Given the description of an element on the screen output the (x, y) to click on. 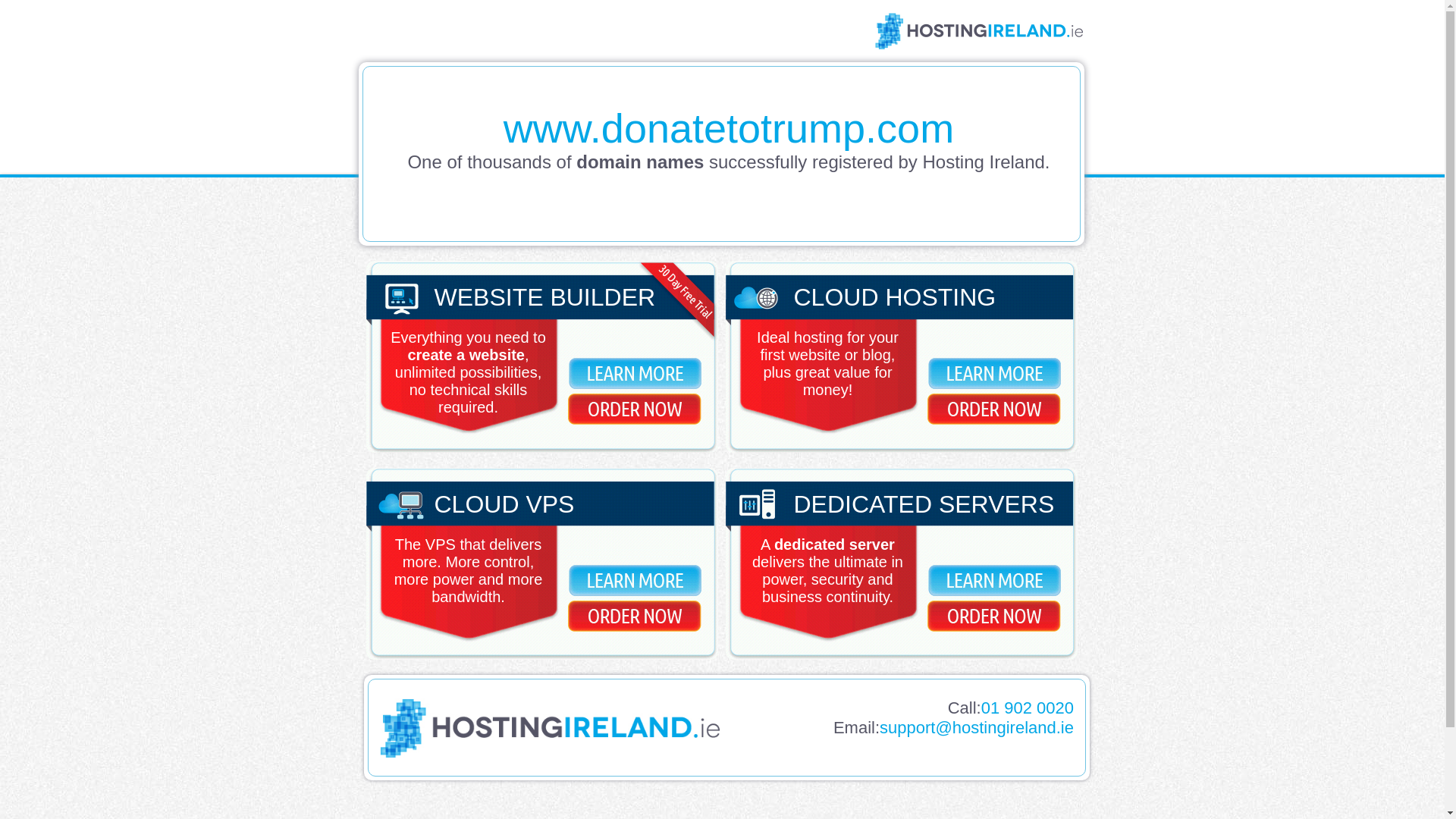
domain names (639, 161)
Hosting Ireland Home (549, 753)
dedicated server (834, 544)
create a website (465, 354)
